Given the description of an element on the screen output the (x, y) to click on. 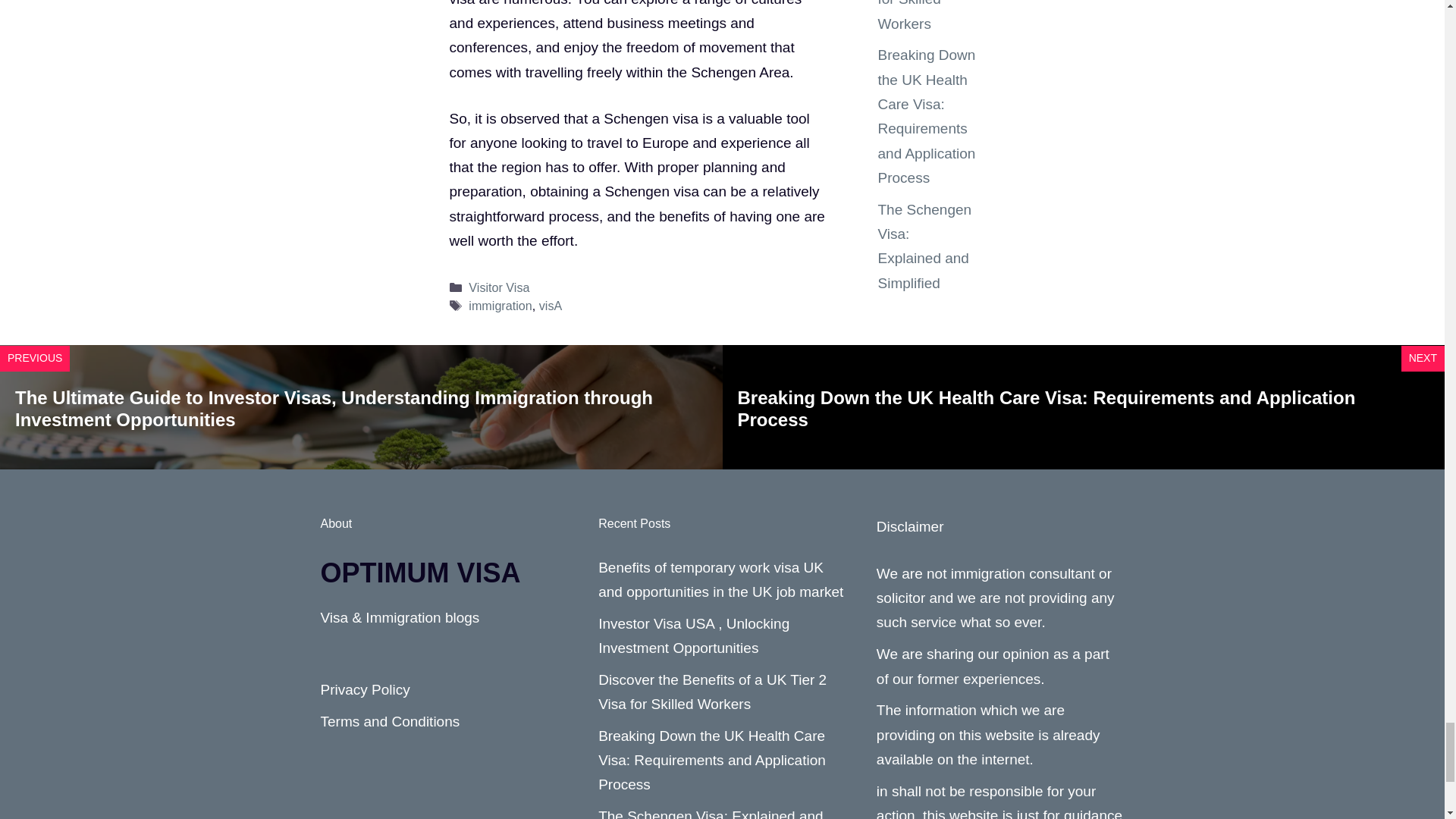
Visitor Visa (498, 287)
Terms and Conditions (390, 721)
immigration (499, 305)
visA (550, 305)
Privacy Policy (364, 689)
